Given the description of an element on the screen output the (x, y) to click on. 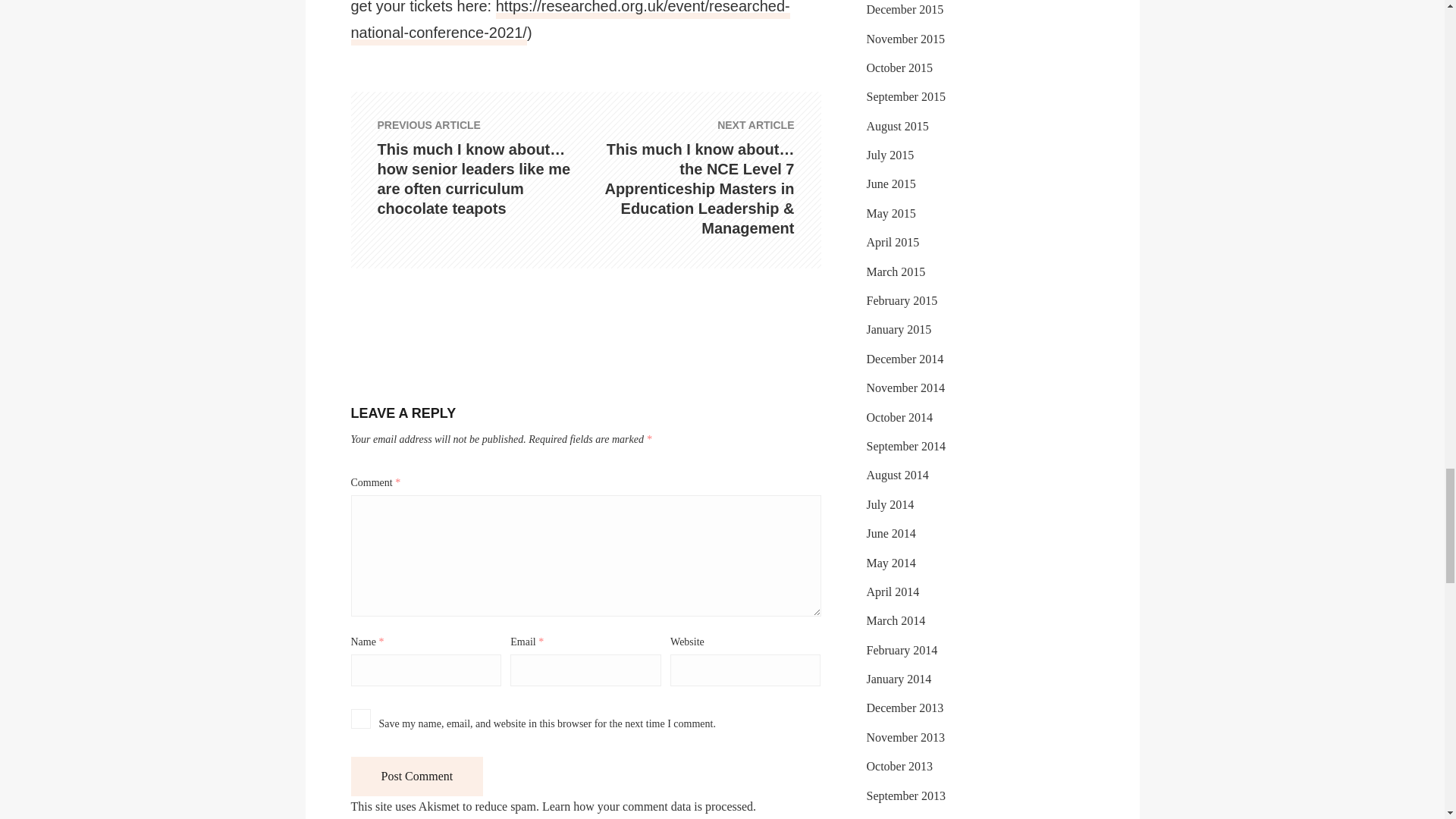
yes (359, 718)
Post Comment (416, 776)
Learn how your comment data is processed (646, 806)
Post Comment (416, 776)
